Given the description of an element on the screen output the (x, y) to click on. 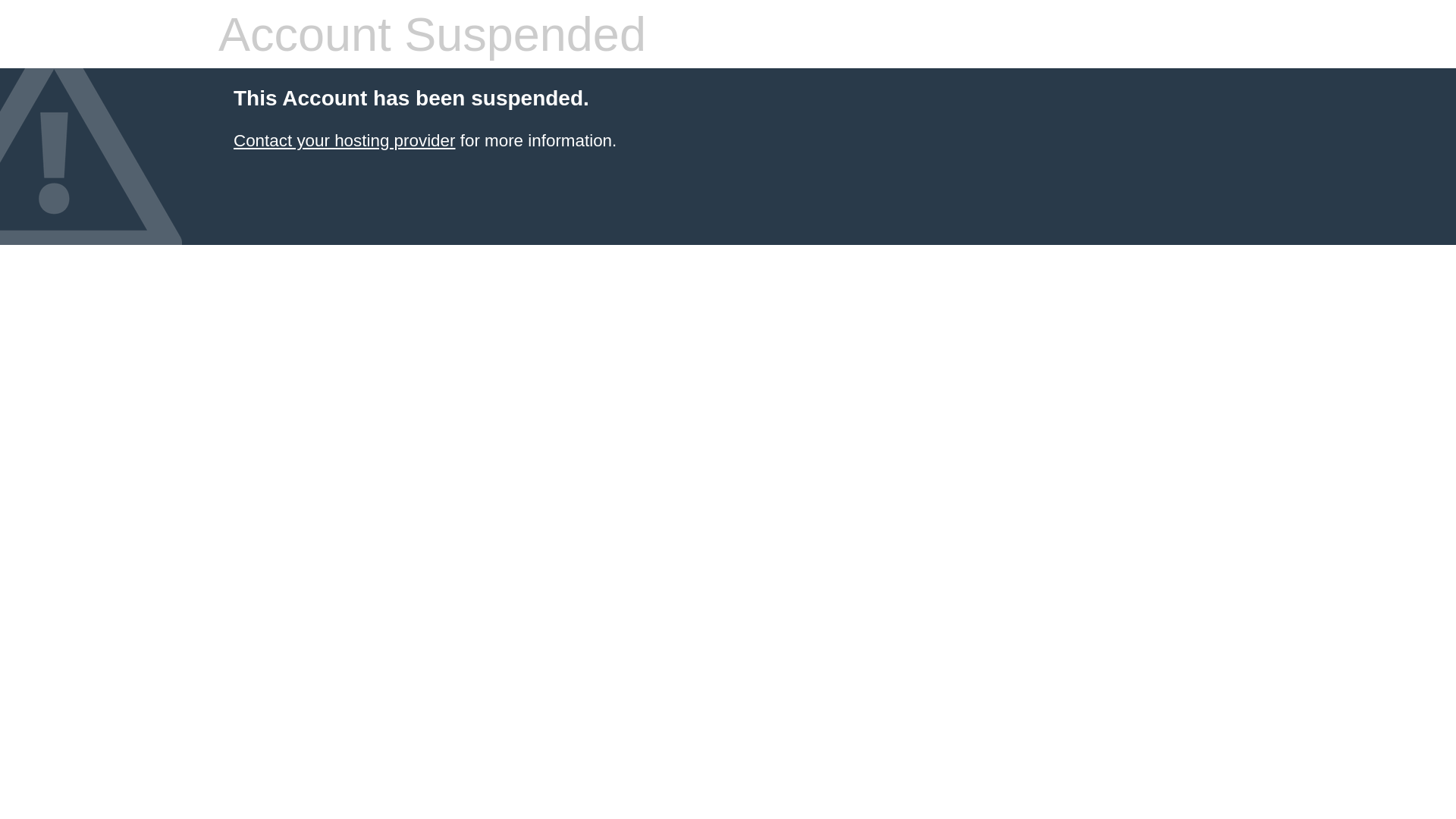
Contact your hosting provider Element type: text (344, 140)
